Given the description of an element on the screen output the (x, y) to click on. 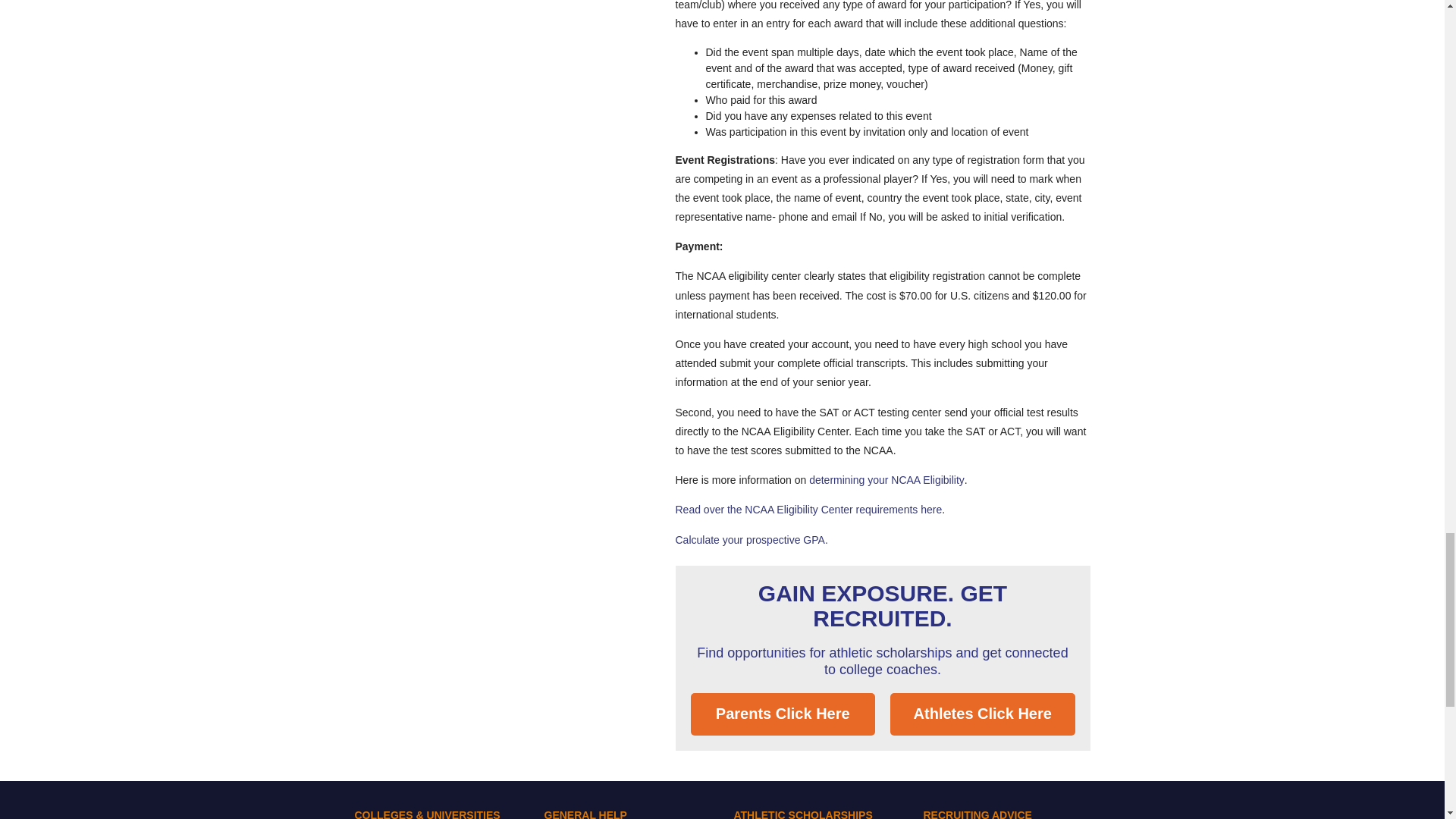
Read over the NCAA Eligibility Center requirements here (808, 509)
Calculate your prospective GPA. (751, 539)
Athletes Click Here (982, 713)
Parents Click Here (782, 713)
determining your NCAA Eligibility (886, 480)
